Given the description of an element on the screen output the (x, y) to click on. 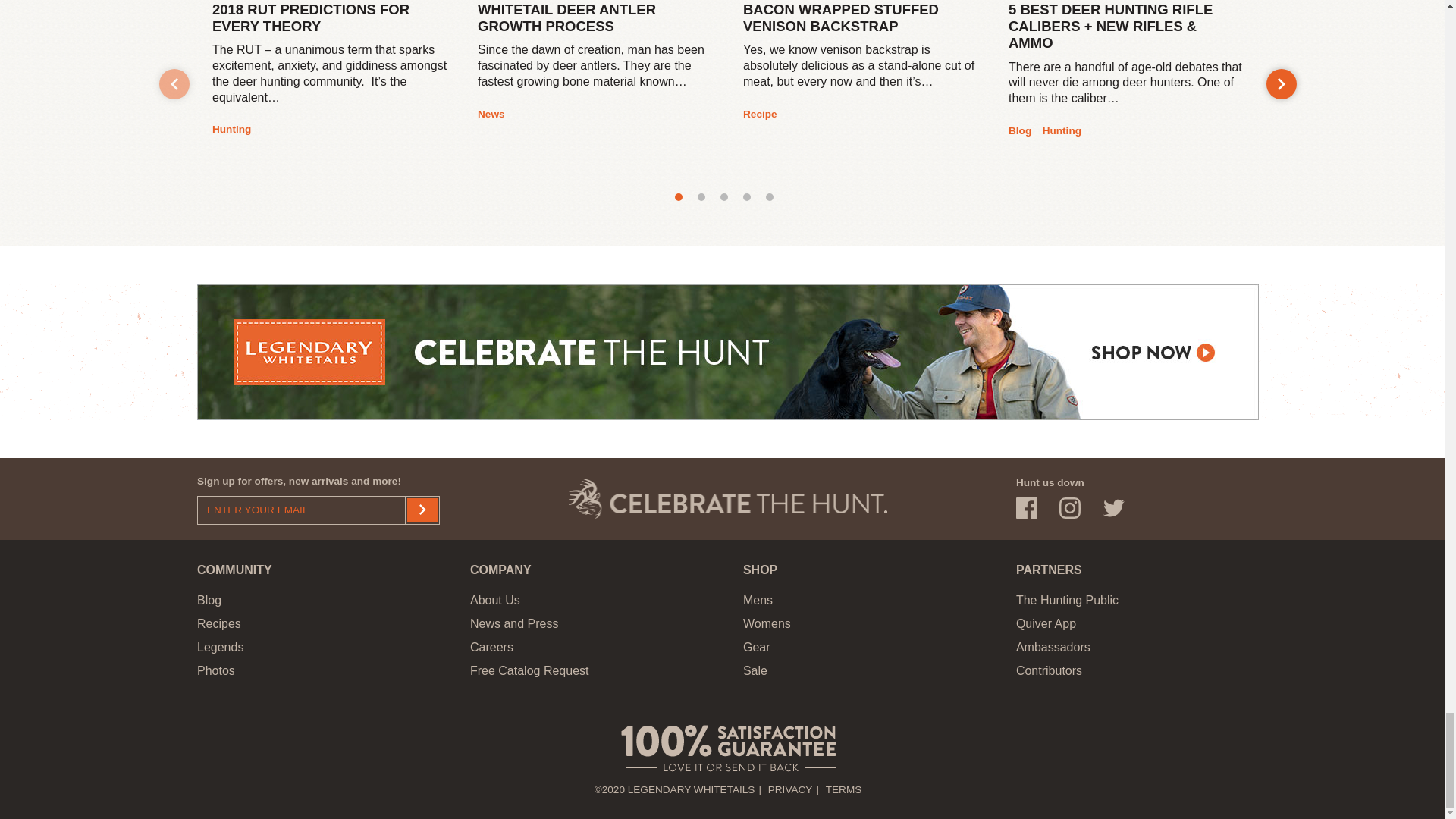
2018 RUT PREDICTIONS FOR EVERY THEORY (329, 21)
Hunting (231, 129)
Previous (173, 83)
